Given the description of an element on the screen output the (x, y) to click on. 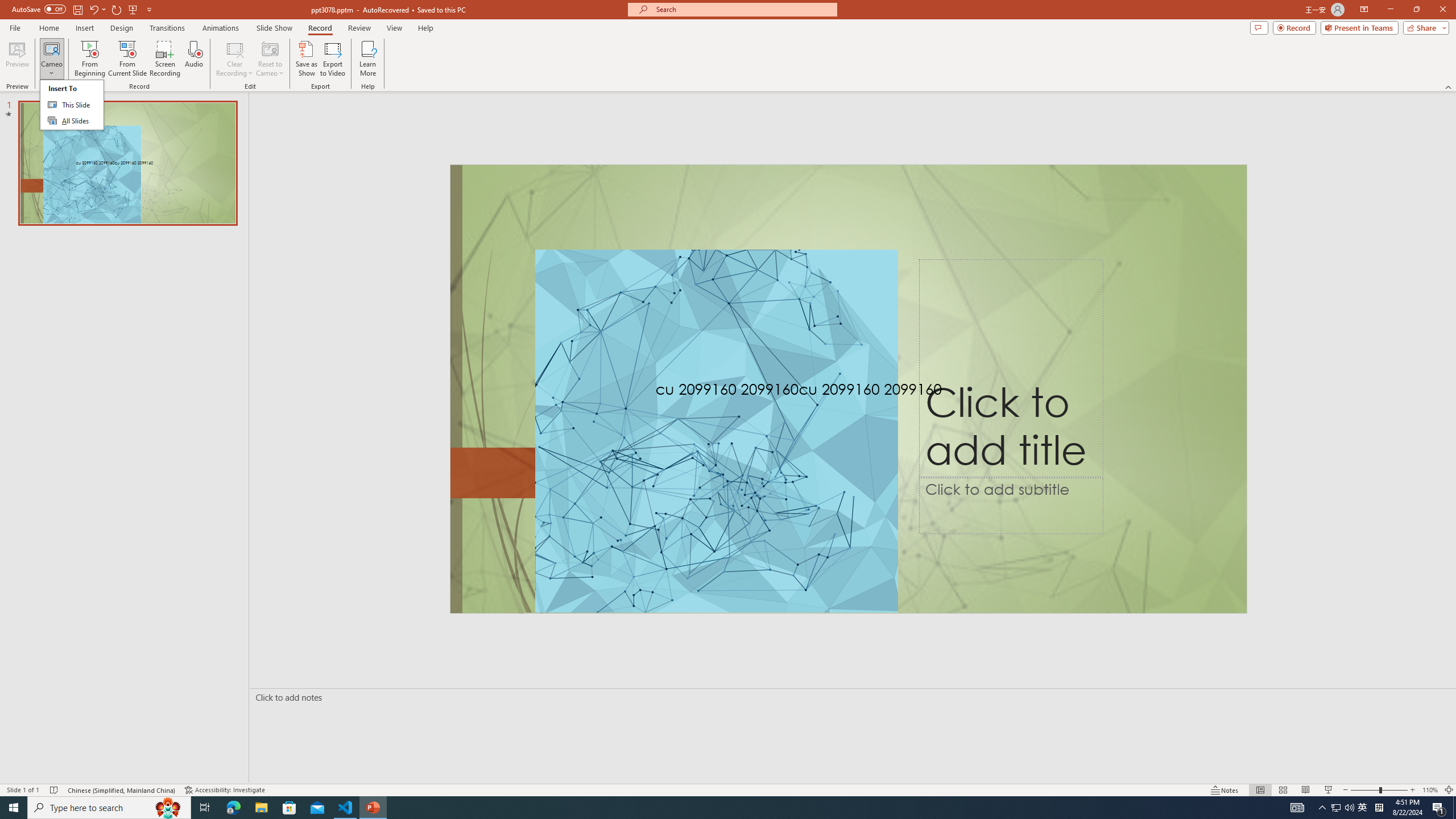
System (6, 6)
Export to Video (332, 58)
Spell Check No Errors (54, 790)
Record (1294, 27)
Zoom In (1412, 790)
Zoom (1379, 790)
Tray Input Indicator - Chinese (Simplified, China) (1378, 807)
